Given the description of an element on the screen output the (x, y) to click on. 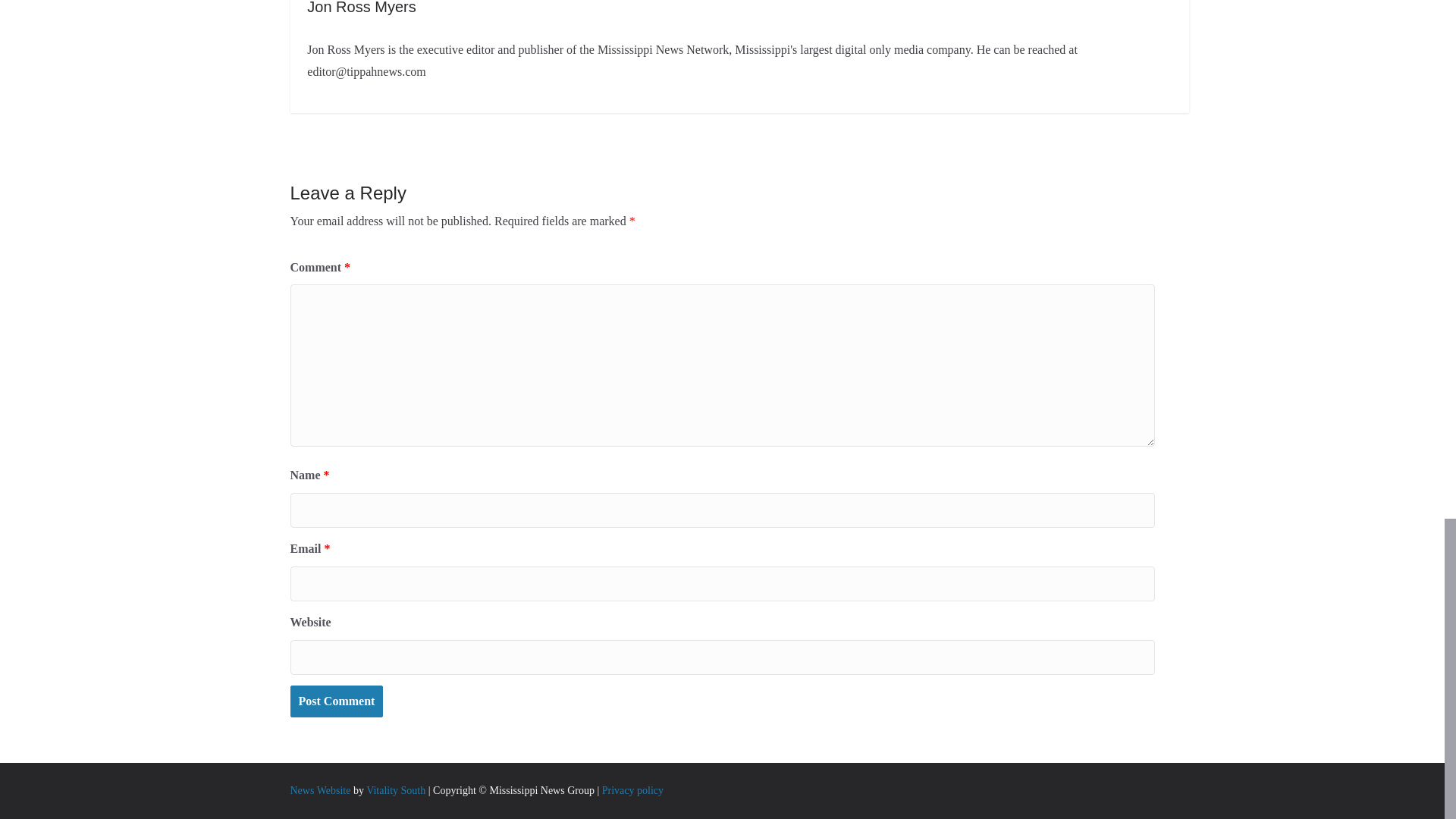
Post Comment (335, 701)
